Given the description of an element on the screen output the (x, y) to click on. 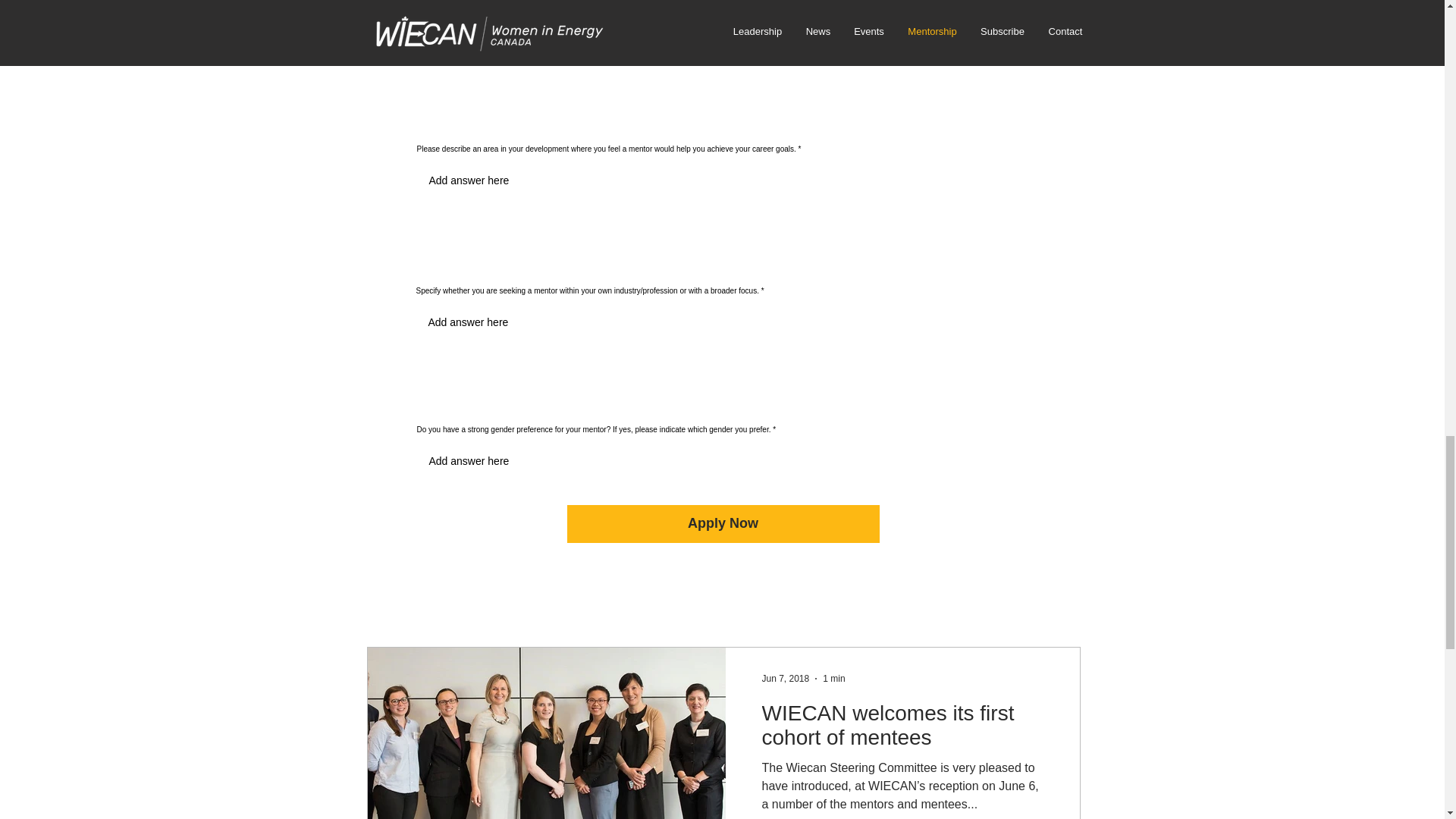
1 min (833, 678)
Apply Now (723, 523)
Jun 7, 2018 (785, 678)
WIECAN welcomes its first cohort of mentees (901, 730)
